Given the description of an element on the screen output the (x, y) to click on. 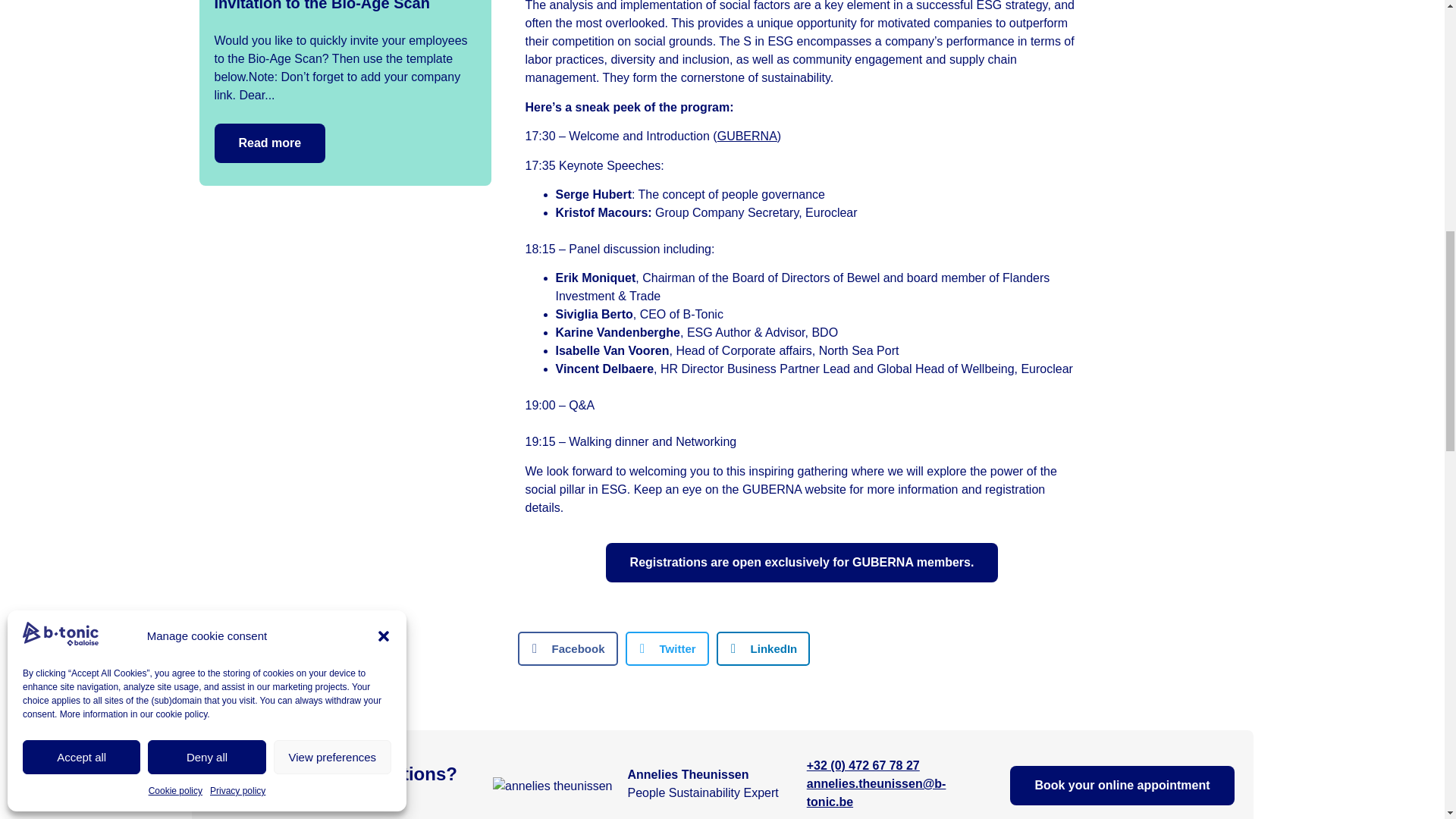
annelies-theunissen (552, 786)
